Given the description of an element on the screen output the (x, y) to click on. 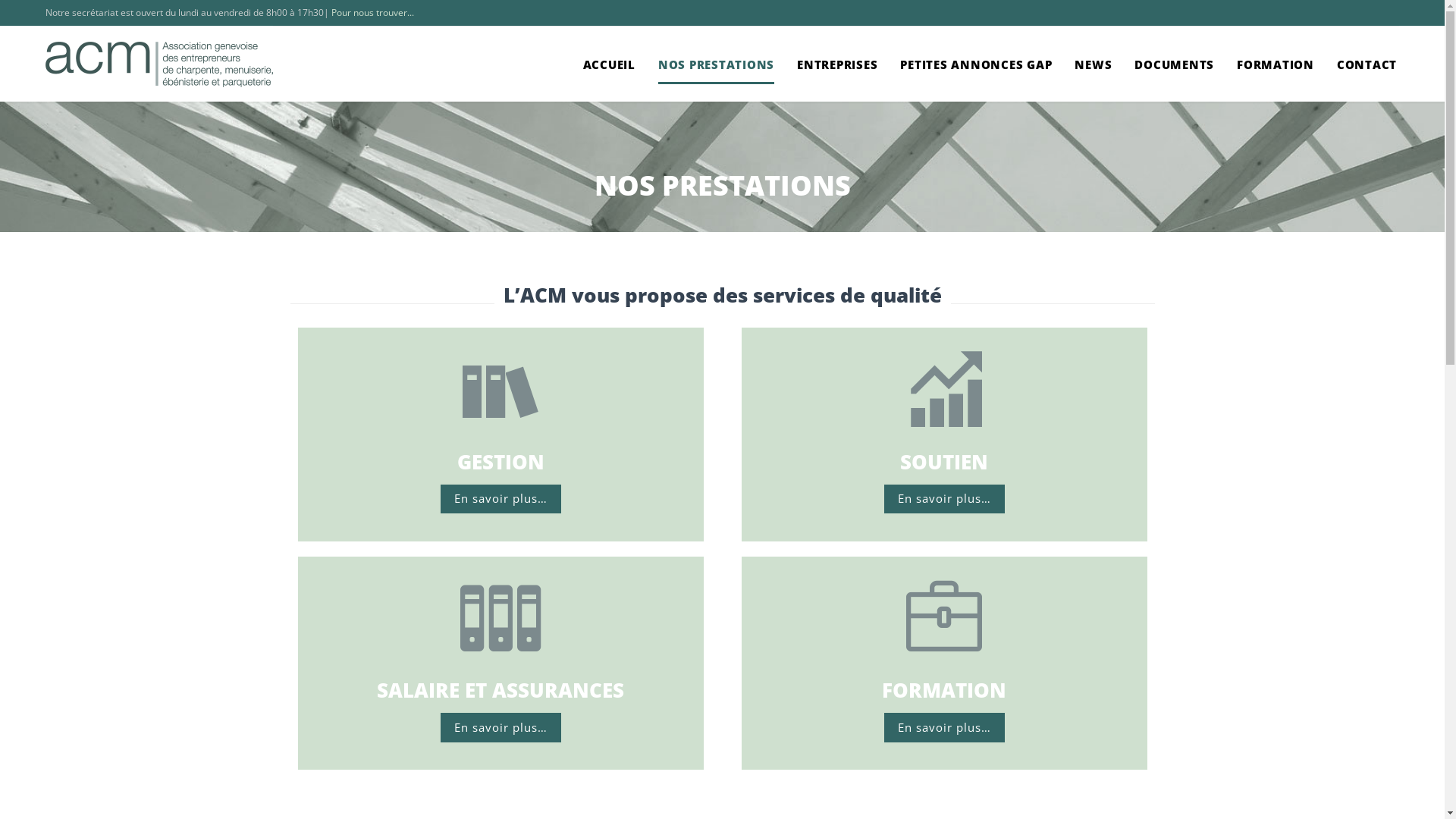
PETITES ANNONCES GAP Element type: text (975, 65)
ENTREPRISES Element type: text (837, 65)
DOCUMENTS Element type: text (1174, 65)
Pour nous trouver... Element type: text (372, 12)
CONTACT Element type: text (1366, 65)
ACCUEIL Element type: text (608, 65)
NEWS Element type: text (1092, 65)
acm-bois Element type: hover (159, 63)
FORMATION Element type: text (1275, 65)
Skip to content Element type: text (1407, 43)
NOS PRESTATIONS Element type: text (716, 65)
